Given the description of an element on the screen output the (x, y) to click on. 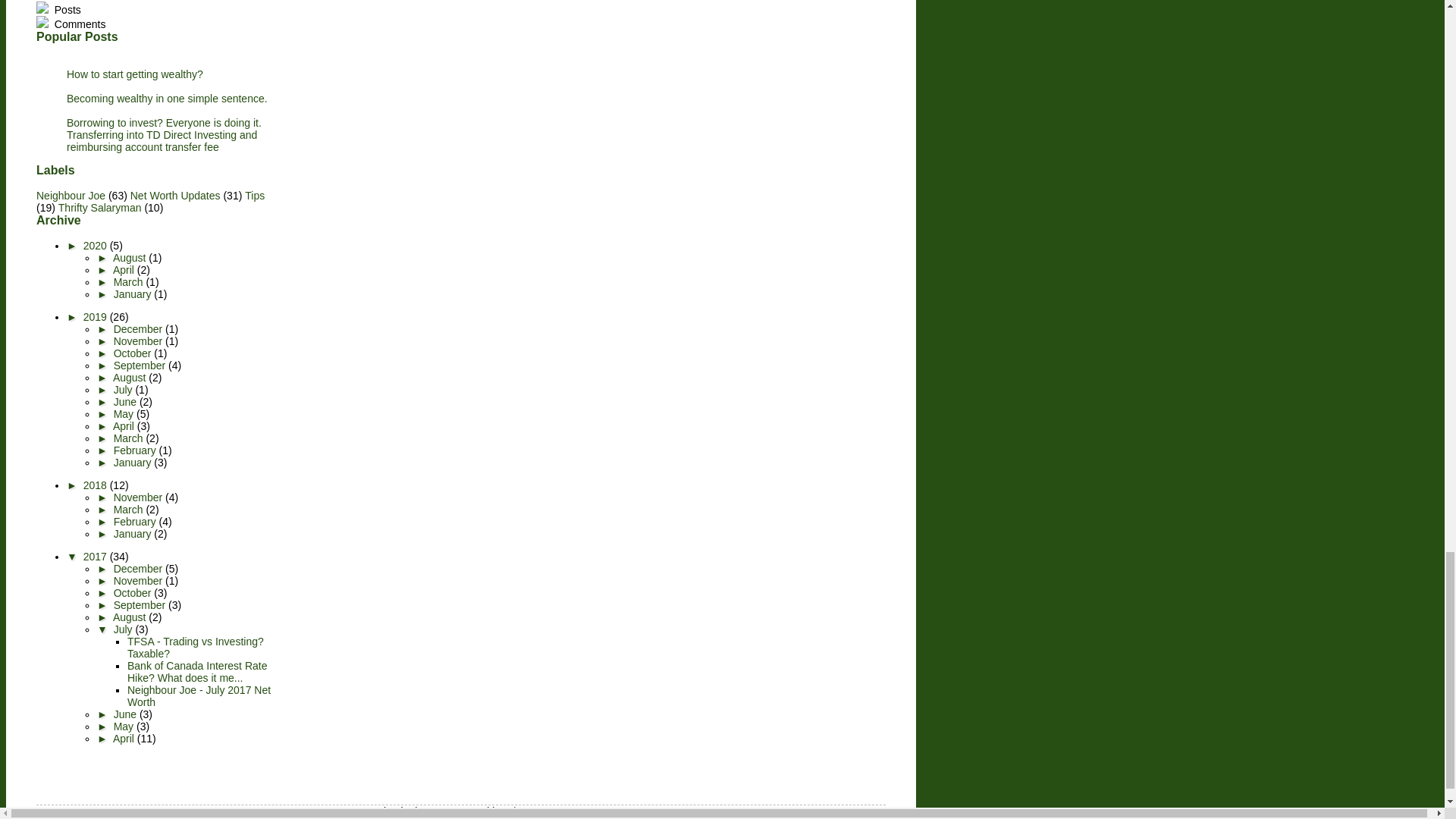
How to start getting wealthy? (134, 73)
Borrowing to invest? Everyone is doing it. (164, 122)
Neighbour Joe (70, 195)
Becoming wealthy in one simple sentence. (166, 98)
